Given the description of an element on the screen output the (x, y) to click on. 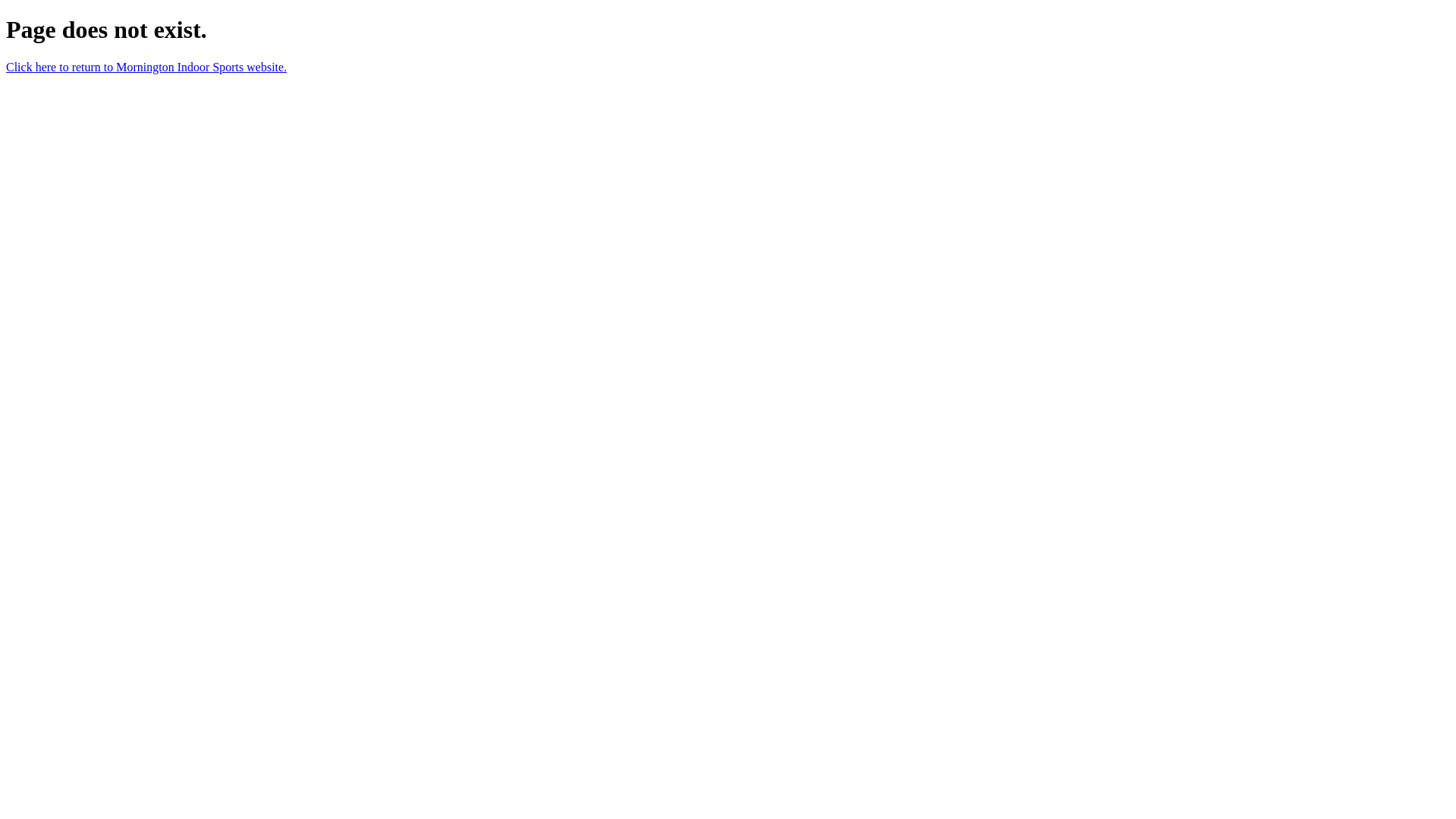
Click here to return to Mornington Indoor Sports website. Element type: text (146, 66)
